Given the description of an element on the screen output the (x, y) to click on. 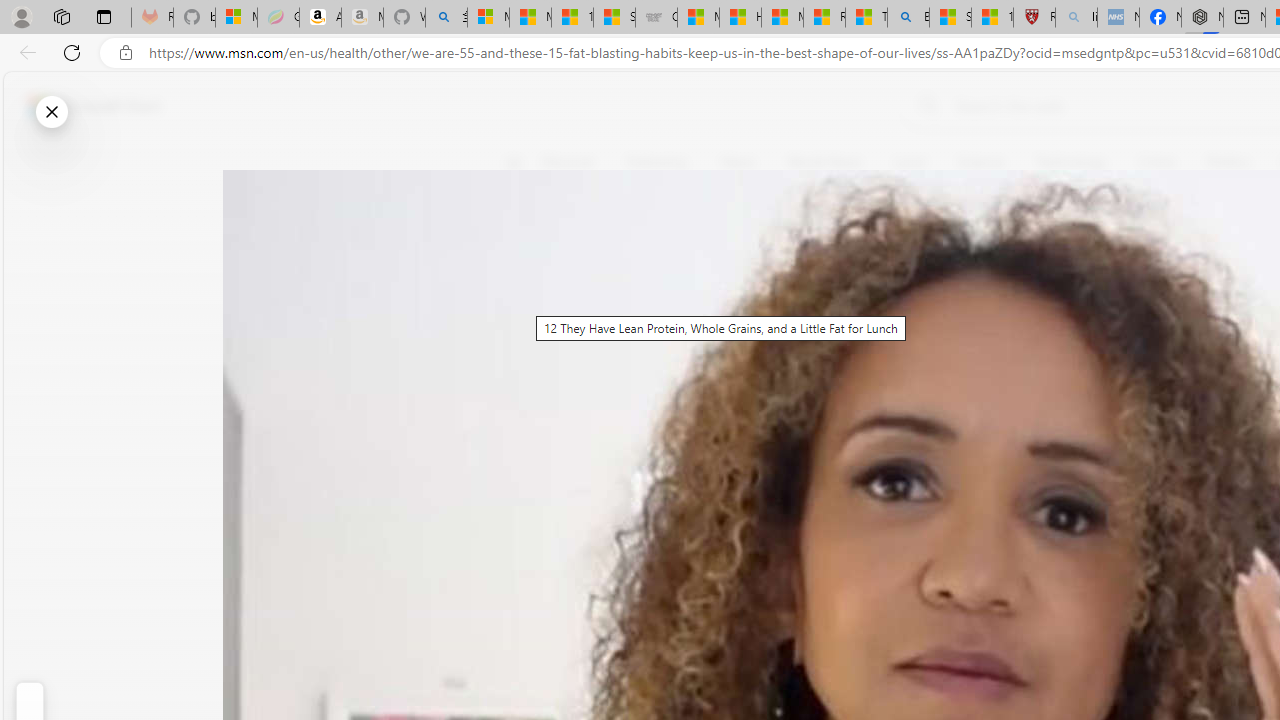
Local (909, 162)
Combat Siege (656, 17)
